Given the description of an element on the screen output the (x, y) to click on. 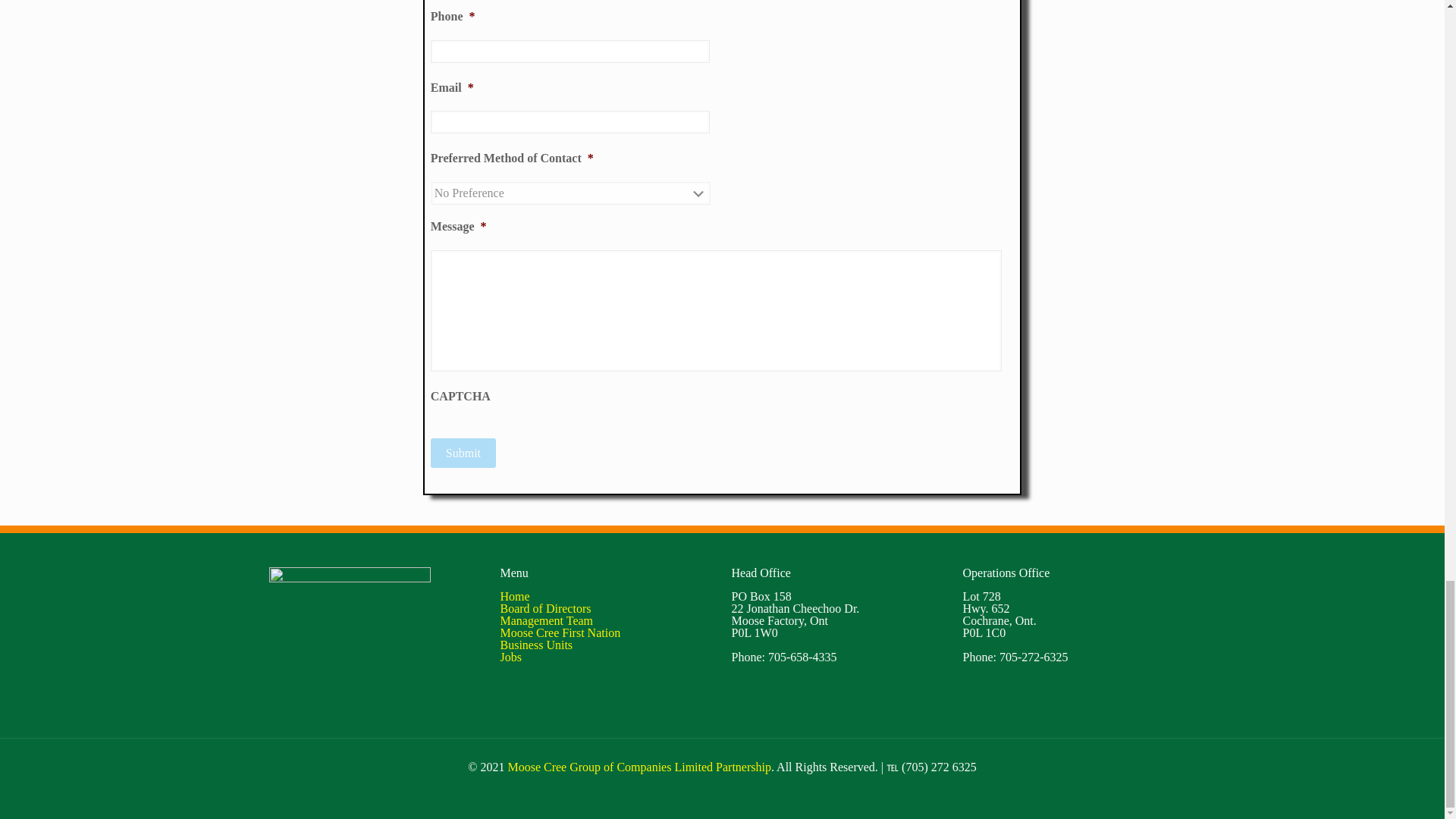
Moose Cree Group of Companies Limited Partnership (638, 766)
Home (514, 595)
Submit (463, 452)
Moose Cree First Nation (560, 632)
Business Units (536, 644)
Board of Directors (545, 608)
Submit (463, 452)
Management Team (547, 620)
Jobs (510, 656)
